Given the description of an element on the screen output the (x, y) to click on. 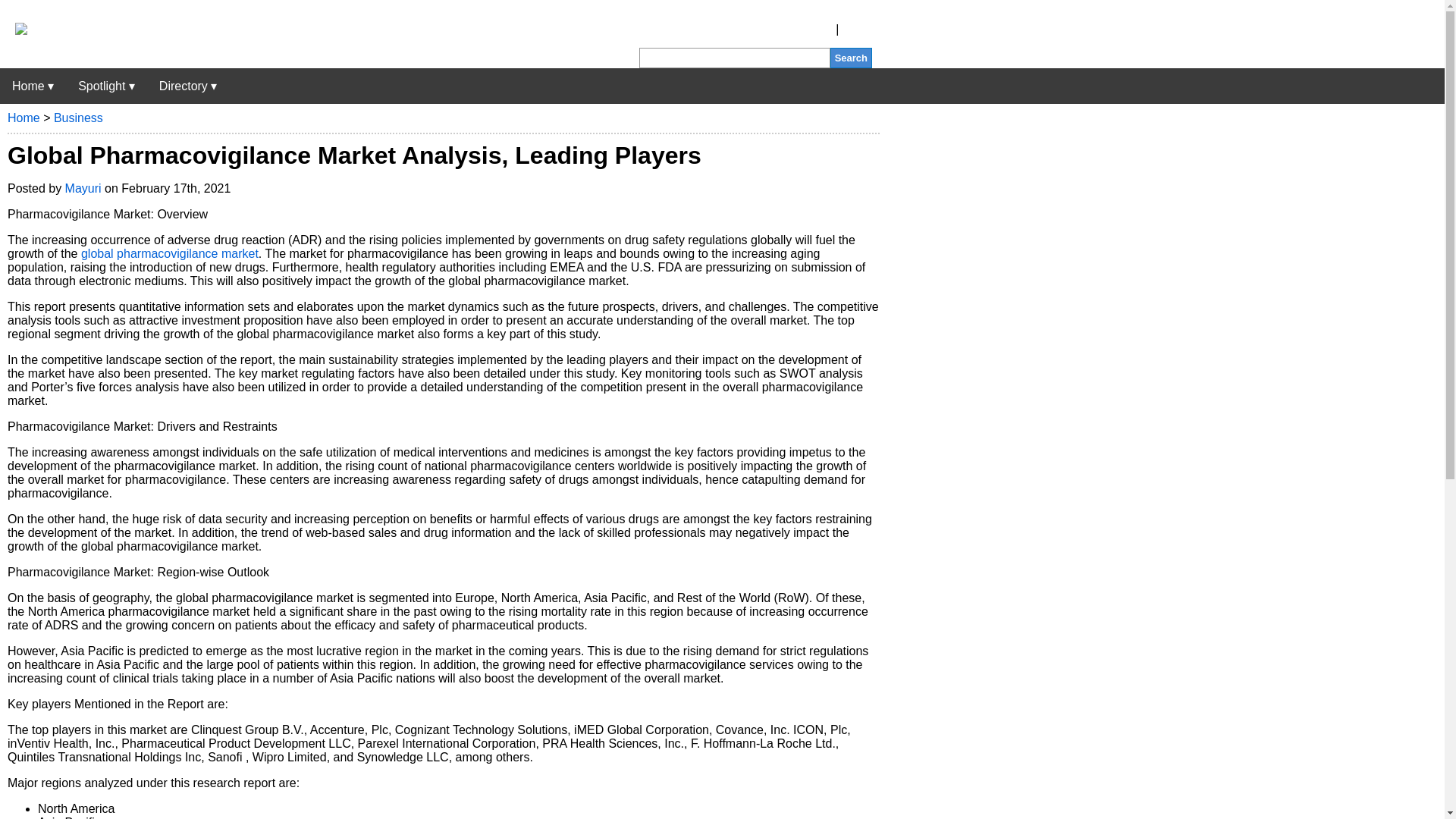
Search (850, 57)
Register (809, 29)
Login (857, 29)
Search (850, 57)
Uberant (32, 85)
Uberant (13, 30)
